Given the description of an element on the screen output the (x, y) to click on. 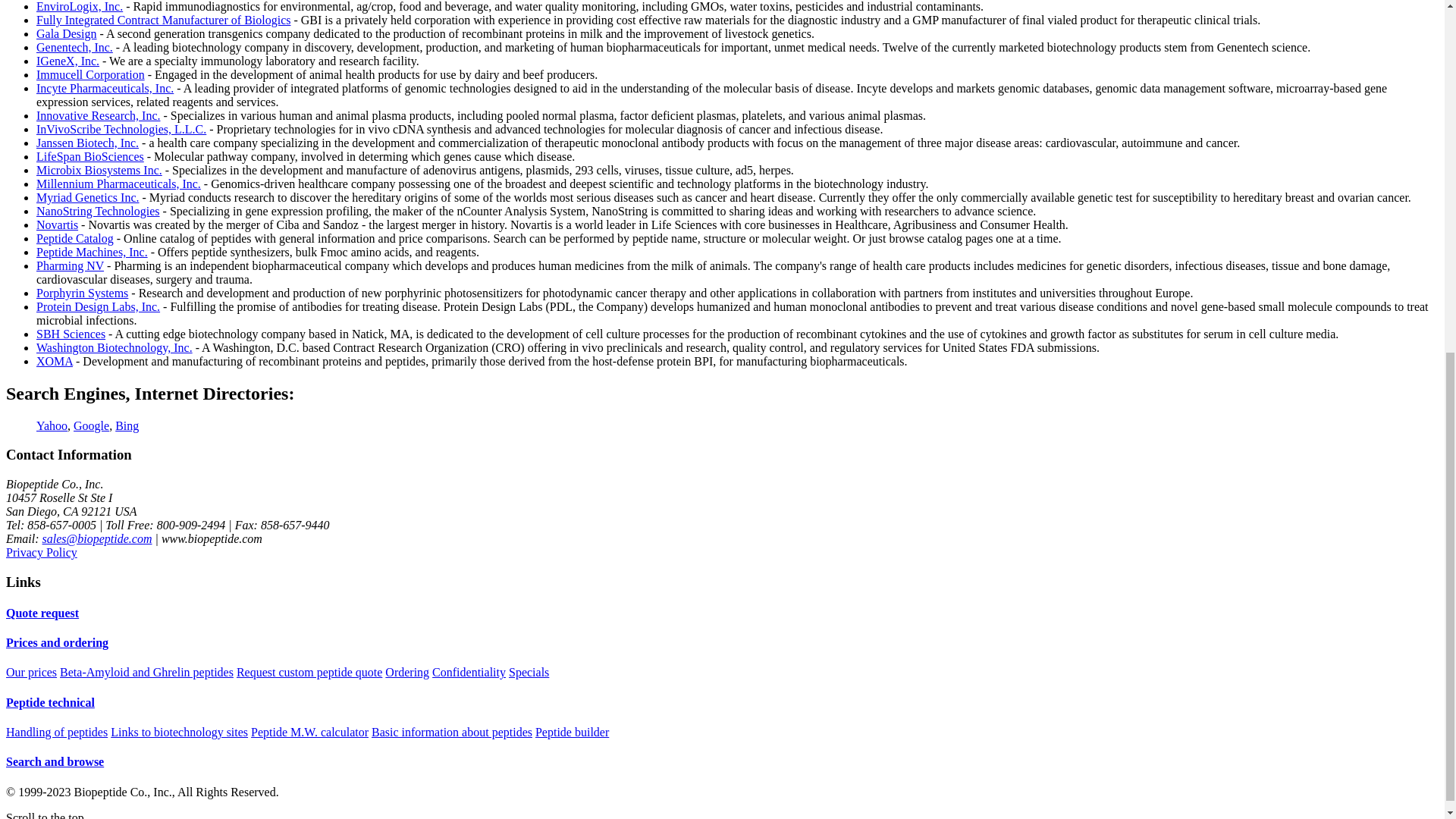
EnviroLogix, Inc. (79, 6)
Innovative Research, Inc. (98, 115)
Janssen Biotech, Inc. (87, 142)
Gala Design (66, 33)
Genentech, Inc. (74, 47)
Incyte Pharmaceuticals, Inc. (104, 88)
Immucell Corporation (90, 74)
InVivoScribe Technologies, L.L.C. (121, 128)
Fully Integrated Contract Manufacturer of Biologics (162, 19)
IGeneX, Inc. (67, 60)
